Given the description of an element on the screen output the (x, y) to click on. 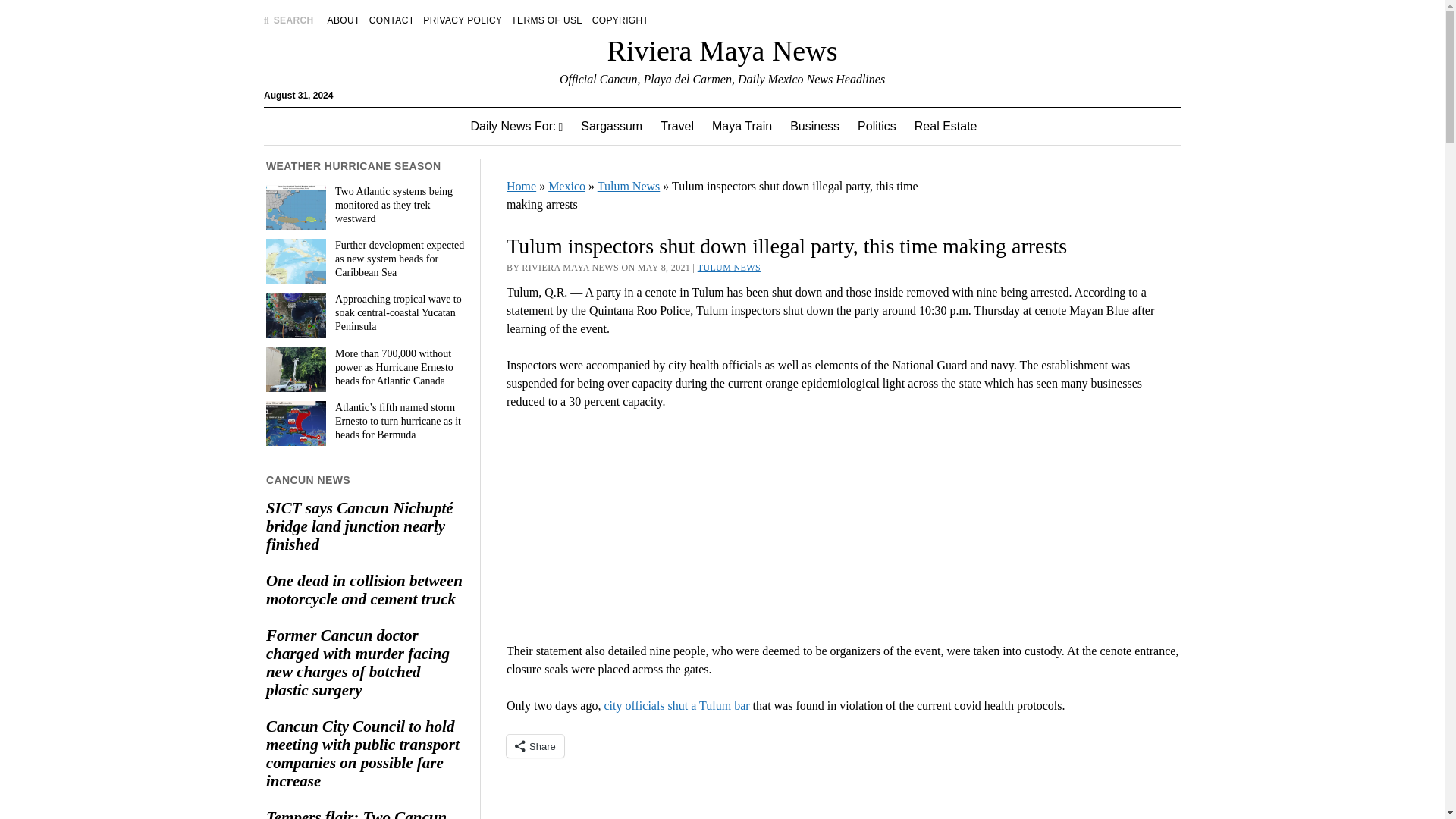
Daily News For: (516, 126)
View all posts in Tulum News (728, 267)
PRIVACY POLICY (462, 20)
Riviera Maya News (722, 50)
SEARCH (288, 20)
TERMS OF USE (546, 20)
Travel (676, 126)
Maya Train (741, 126)
COPYRIGHT (620, 20)
Business (814, 126)
